Given the description of an element on the screen output the (x, y) to click on. 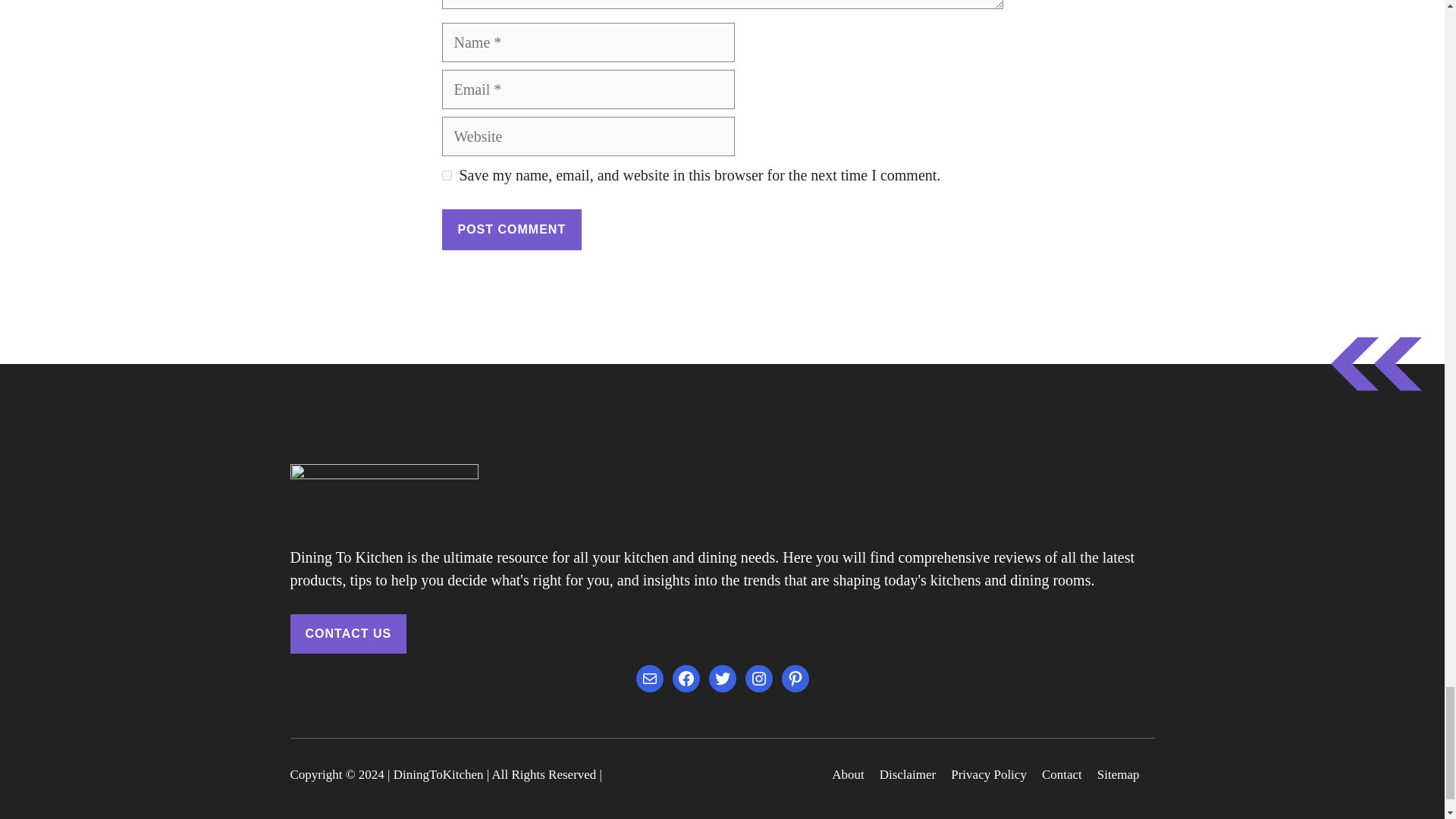
yes (446, 175)
Post Comment (510, 229)
